Given the description of an element on the screen output the (x, y) to click on. 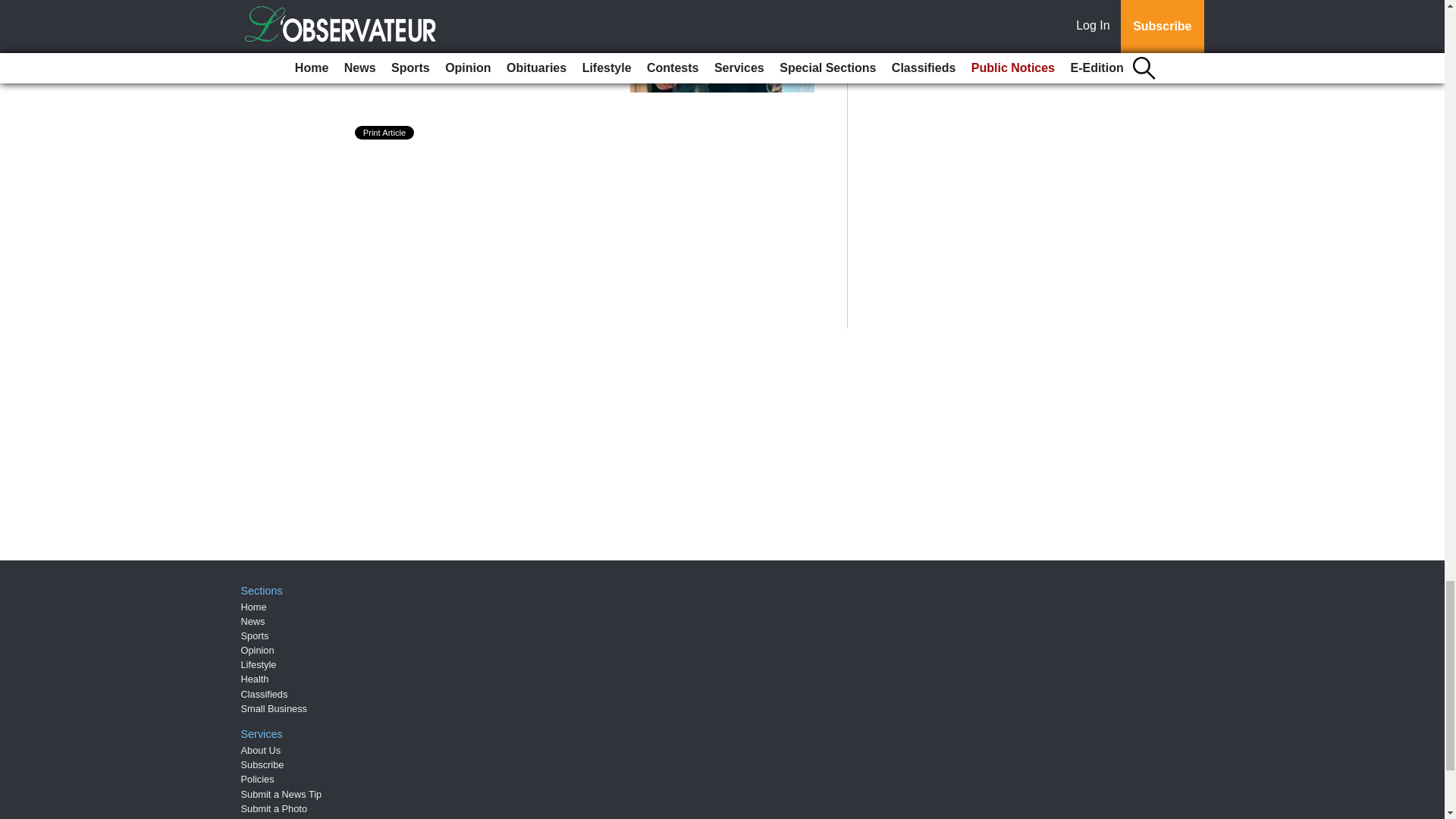
St. Charles deputy wins MADD award (487, 13)
Print Article (384, 132)
St. Charles deputy wins MADD award (487, 13)
